Given the description of an element on the screen output the (x, y) to click on. 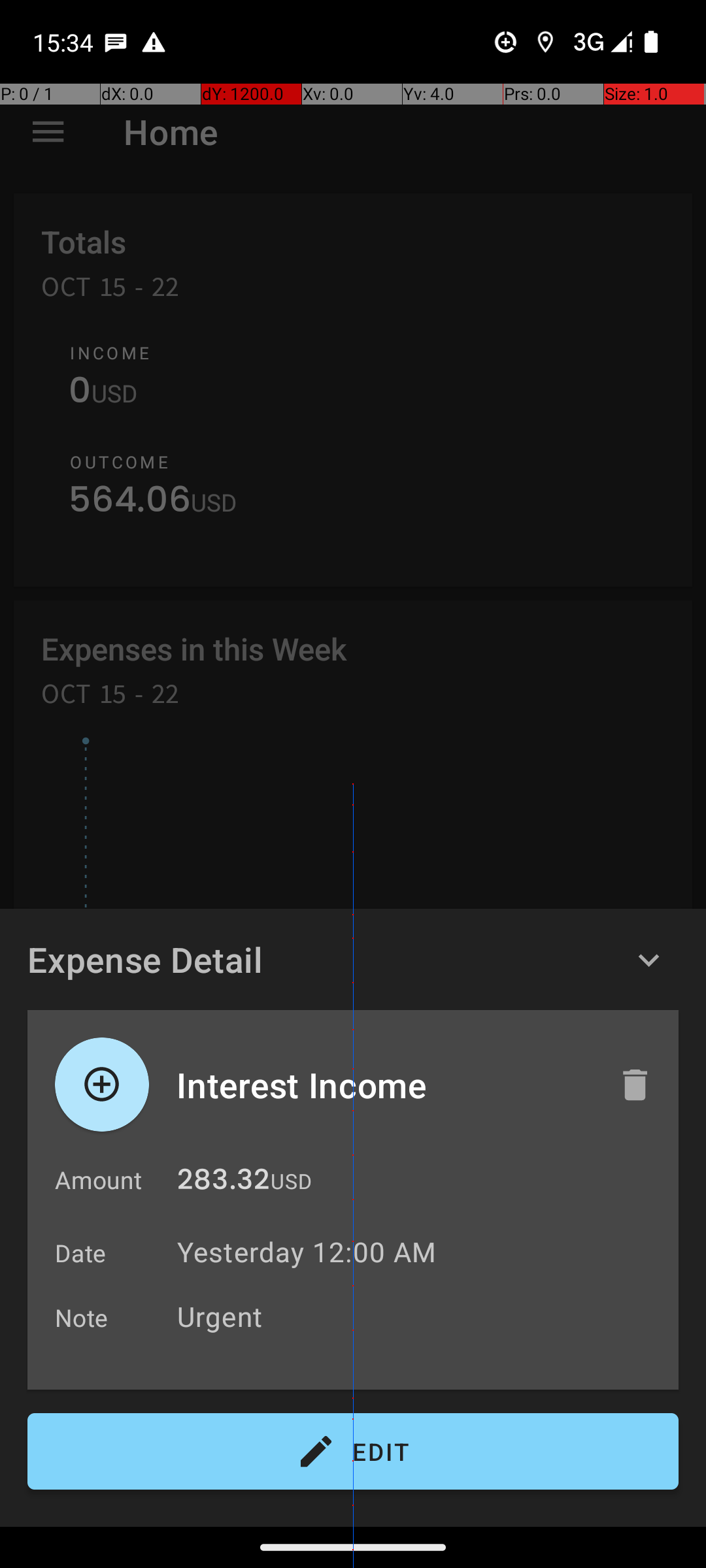
Interest Income Element type: android.widget.TextView (383, 1084)
283.32 Element type: android.widget.TextView (222, 1182)
Yesterday 12:00 AM Element type: android.widget.TextView (306, 1251)
Urgent Element type: android.widget.TextView (420, 1315)
